Given the description of an element on the screen output the (x, y) to click on. 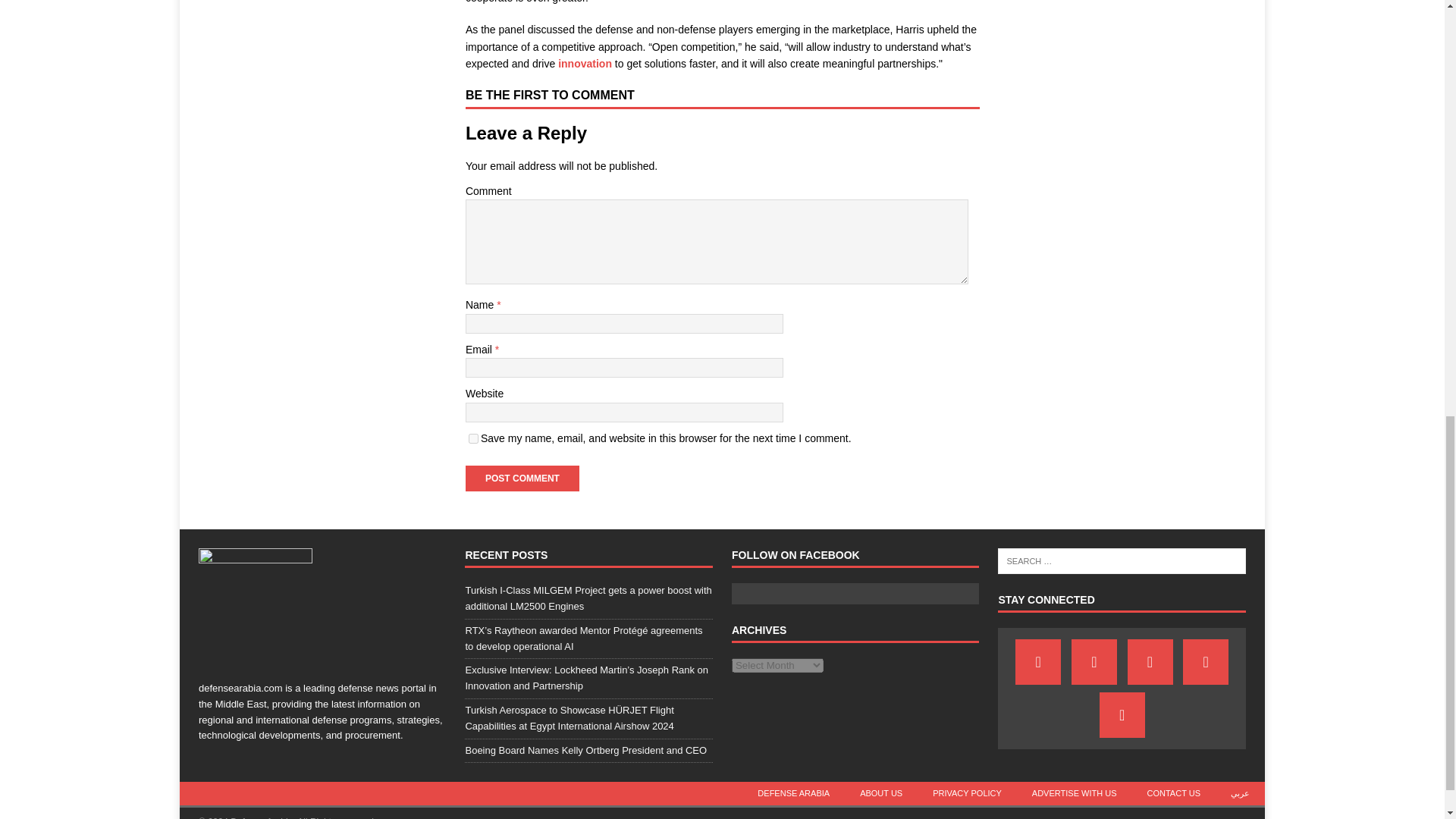
yes (473, 438)
Post Comment (522, 478)
